Given the description of an element on the screen output the (x, y) to click on. 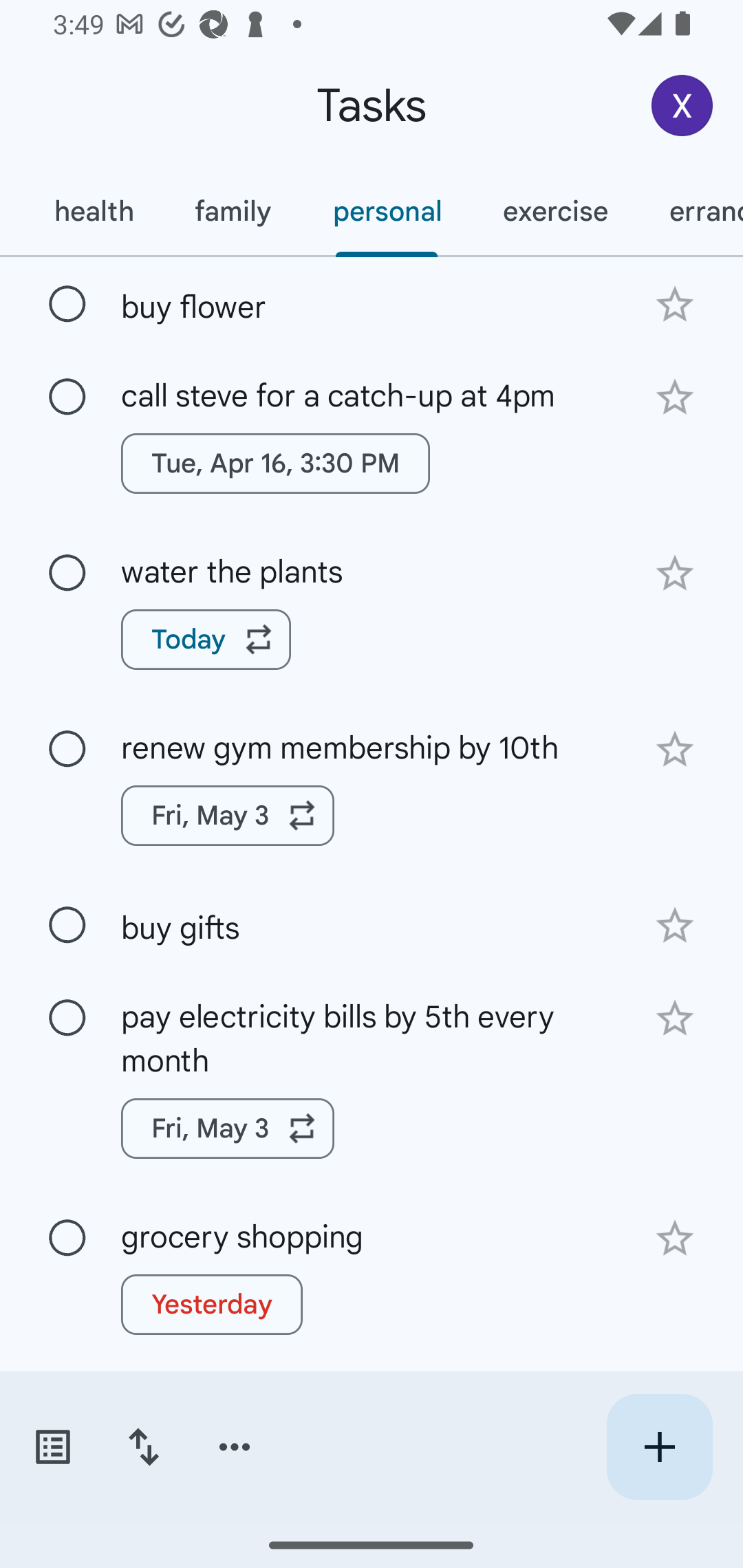
health (93, 211)
family (232, 211)
exercise (554, 211)
errands (690, 211)
buy flower buy flower Add star Mark as complete (371, 303)
Add star (674, 303)
Mark as complete (67, 304)
Add star (674, 397)
Mark as complete (67, 397)
Tue, Apr 16, 3:30 PM (275, 463)
Add star (674, 573)
Mark as complete (67, 572)
Today (206, 639)
Add star (674, 749)
Mark as complete (67, 750)
Fri, May 3 (227, 814)
buy gifts buy gifts Add star Mark as complete (371, 924)
Add star (674, 924)
Mark as complete (67, 925)
Add star (674, 1018)
Mark as complete (67, 1018)
Fri, May 3 (227, 1128)
Add star (674, 1238)
Mark as complete (67, 1237)
Yesterday (211, 1304)
Switch task lists (52, 1447)
Create new task (659, 1446)
Change sort order (143, 1446)
More options (234, 1446)
